Given the description of an element on the screen output the (x, y) to click on. 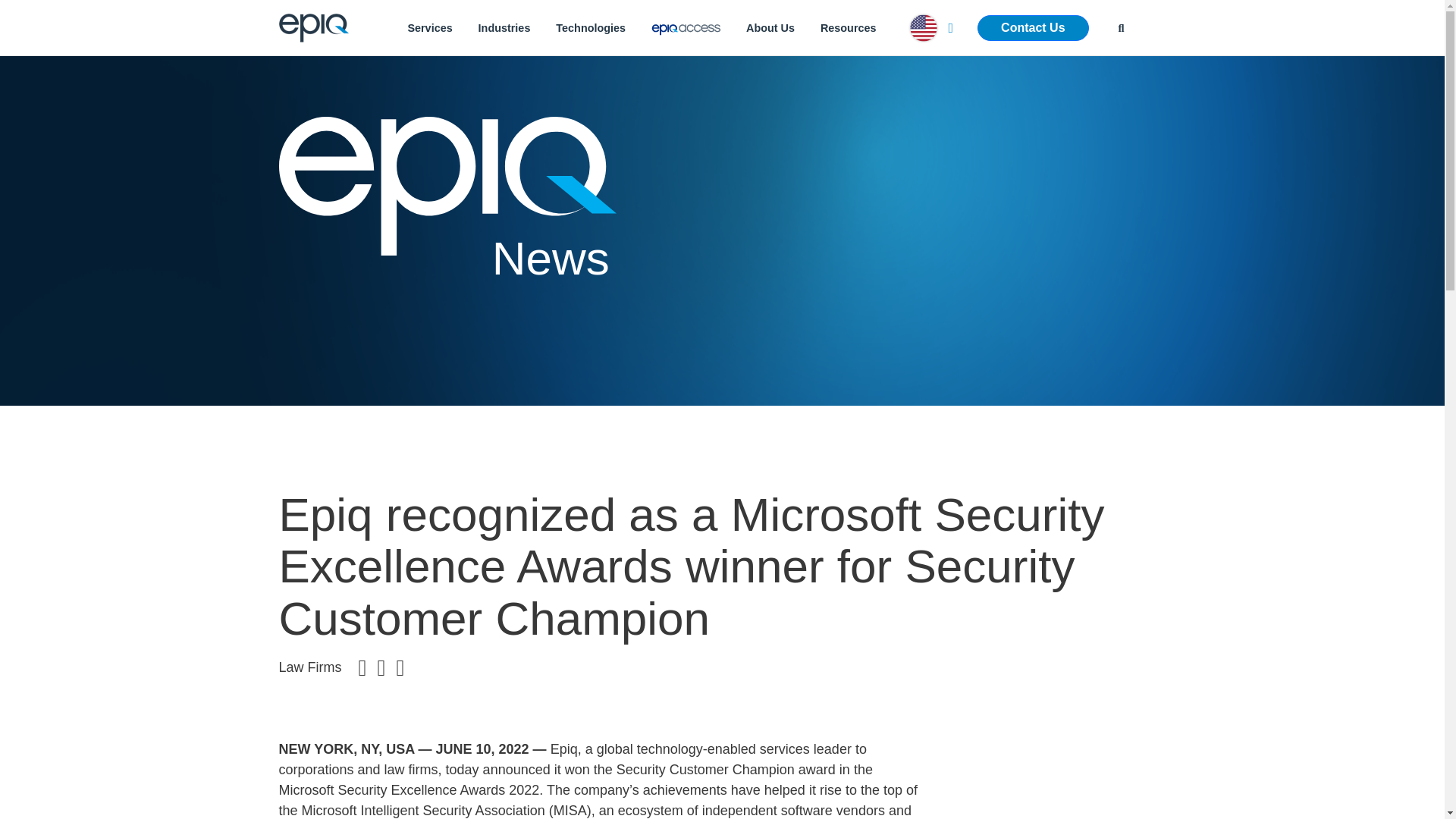
Services (429, 27)
About Us (770, 27)
Contact Us (1031, 27)
Technologies (591, 27)
Resources (848, 27)
Industries (504, 27)
